Given the description of an element on the screen output the (x, y) to click on. 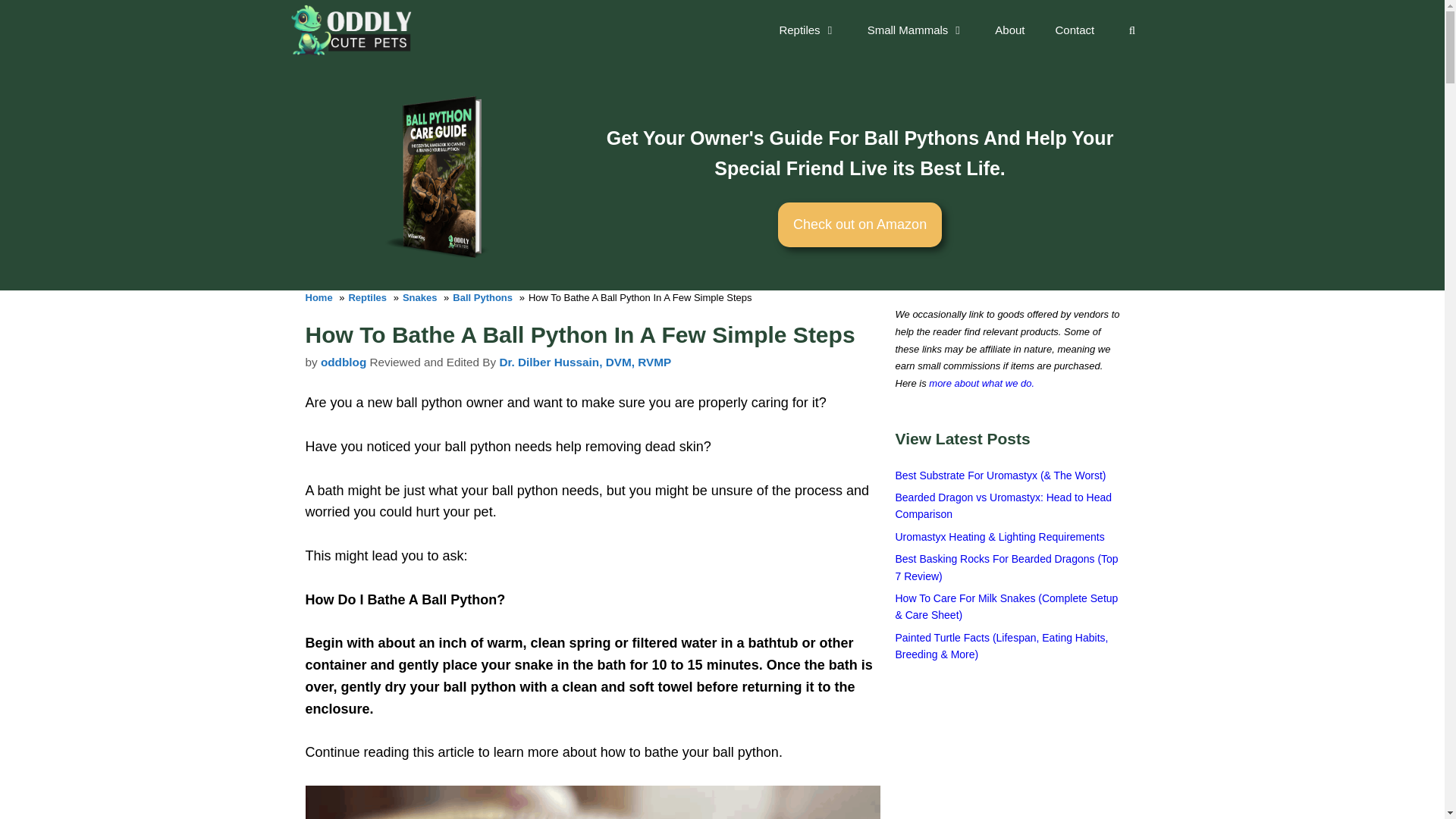
Small Mammals (915, 30)
View all posts by oddblog (343, 361)
Reptiles (806, 30)
View all posts by Dr. Dilber Hussain, DVM, RVMP (585, 361)
About (1009, 30)
